Given the description of an element on the screen output the (x, y) to click on. 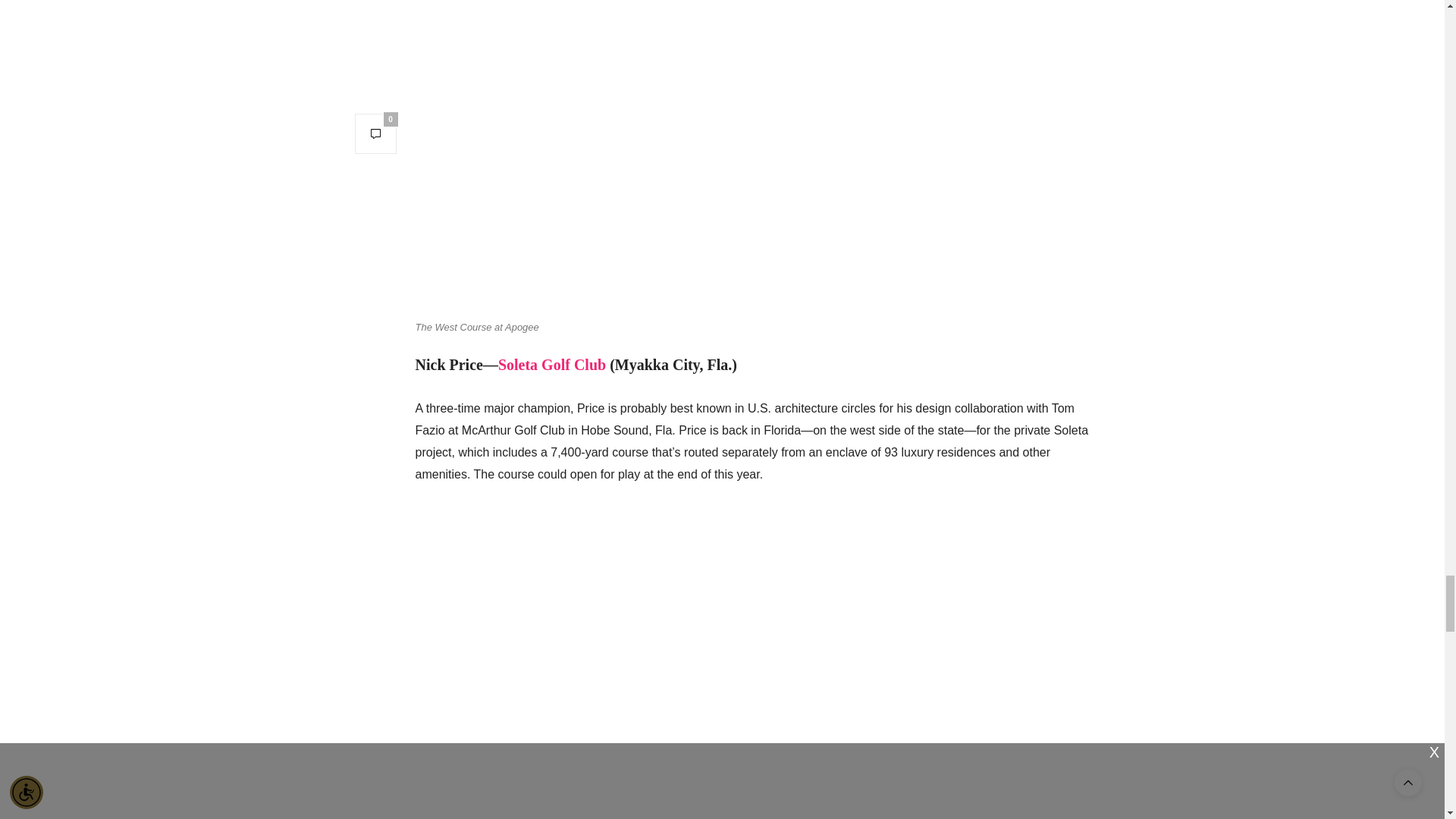
3rd party ad content (751, 539)
